Given the description of an element on the screen output the (x, y) to click on. 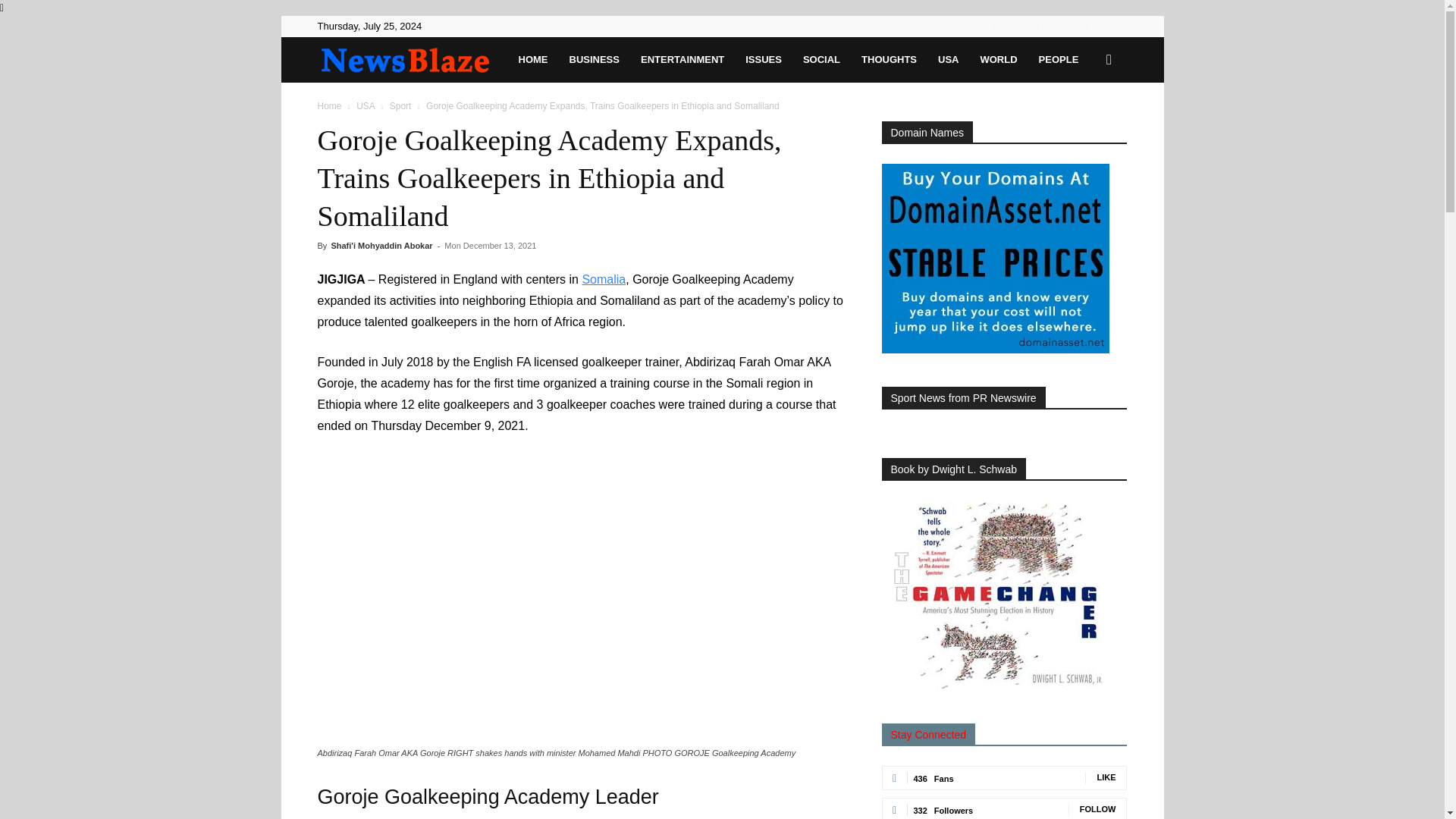
Youtube (1114, 26)
View all posts in USA (365, 105)
Pinterest (1040, 26)
NewsBlaze News logo (404, 60)
View all posts in Sport (401, 105)
Twitter (1065, 26)
Vimeo (1090, 26)
Linkedin (1015, 26)
Facebook (989, 26)
